Given the description of an element on the screen output the (x, y) to click on. 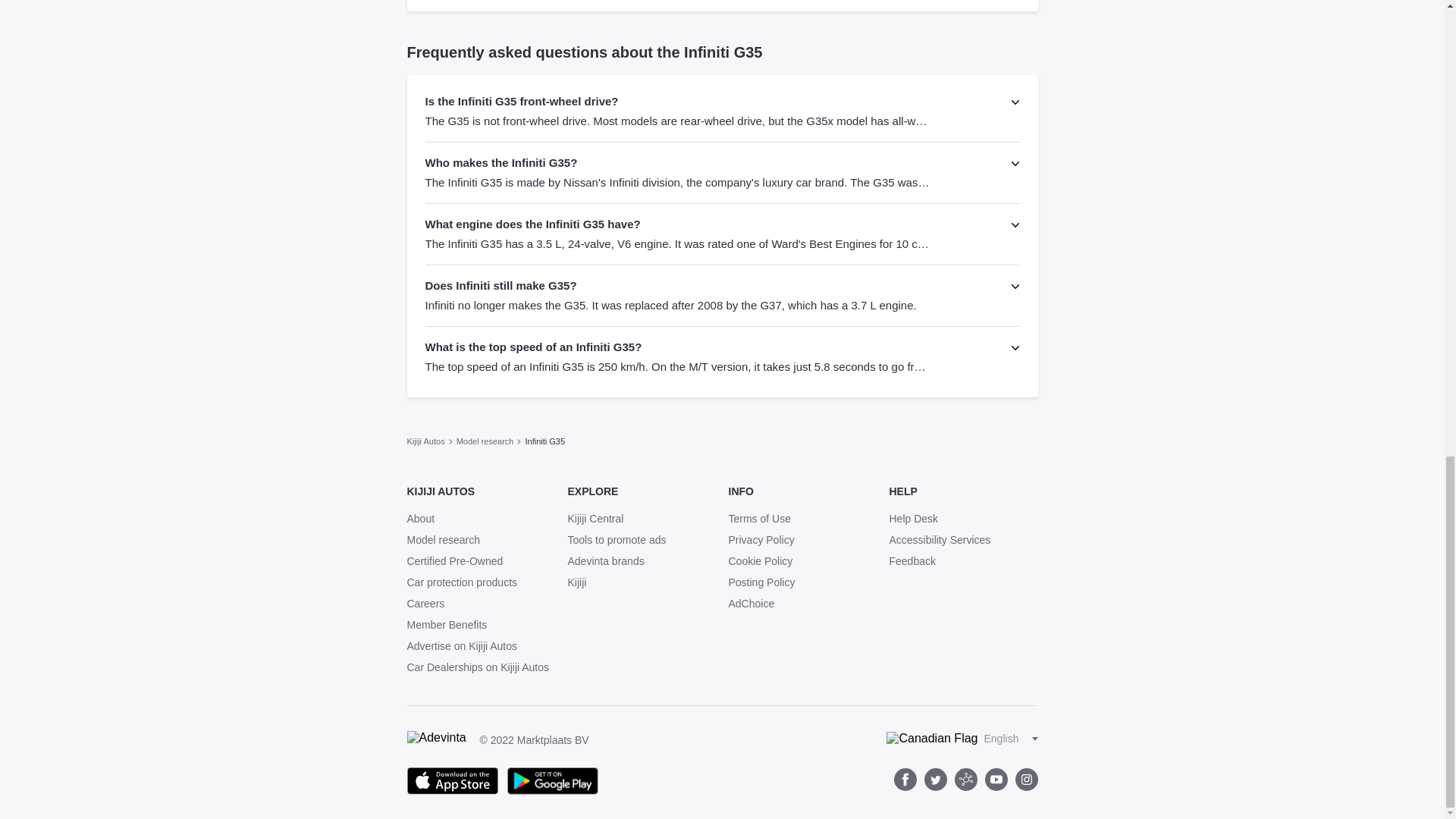
Model research (485, 440)
Kijiji Autos (425, 440)
Car protection products (480, 581)
Certified Pre-Owned (480, 560)
Kijiji Autos (425, 440)
About (419, 518)
Member Benefits (480, 624)
Careers (480, 603)
